Given the description of an element on the screen output the (x, y) to click on. 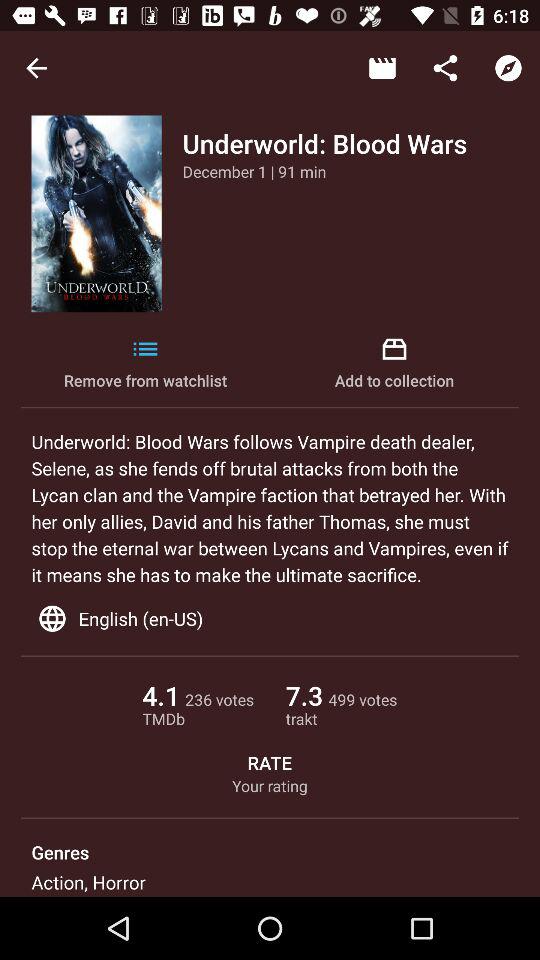
press the icon on the right (394, 364)
